Given the description of an element on the screen output the (x, y) to click on. 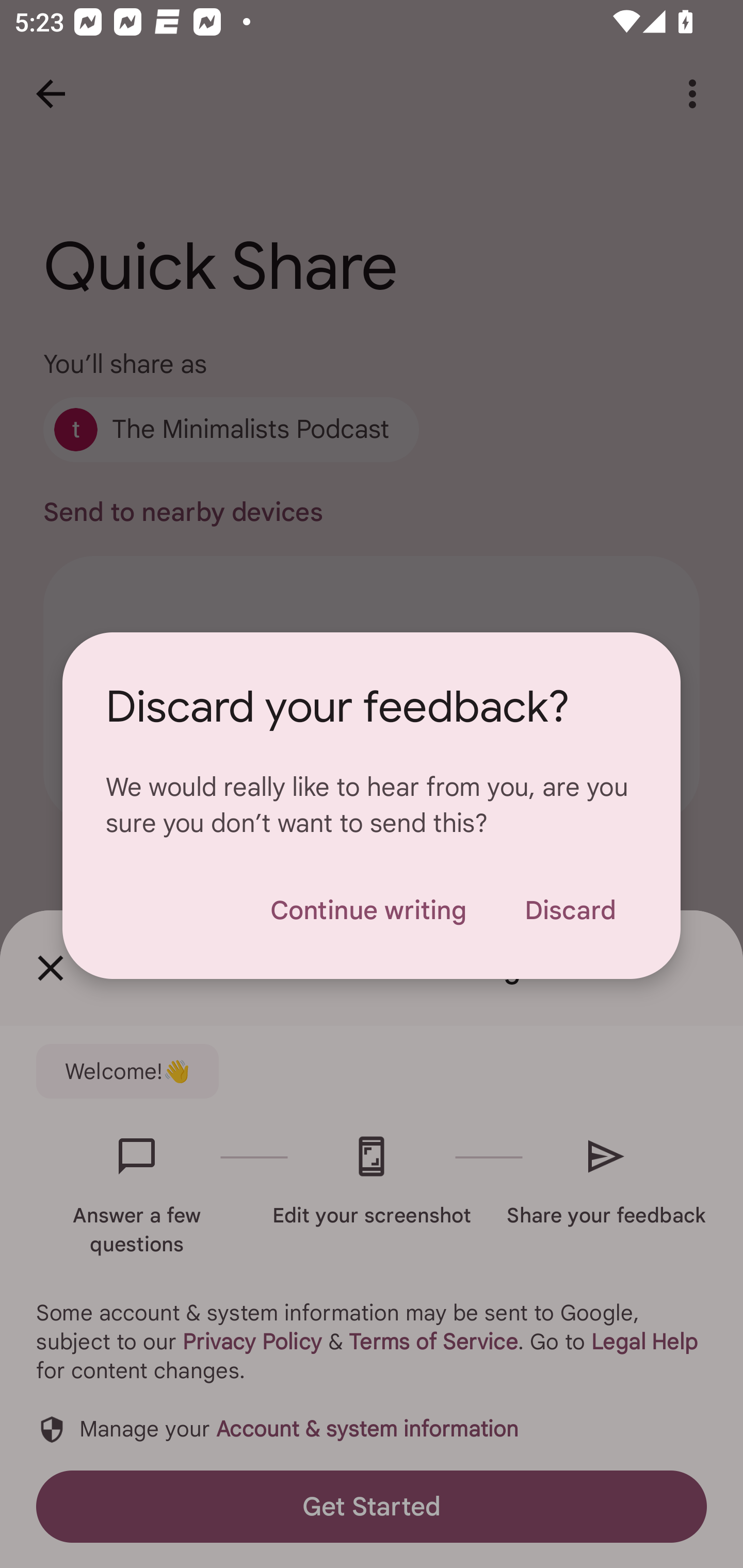
Continue writing (368, 910)
Discard (569, 910)
